Given the description of an element on the screen output the (x, y) to click on. 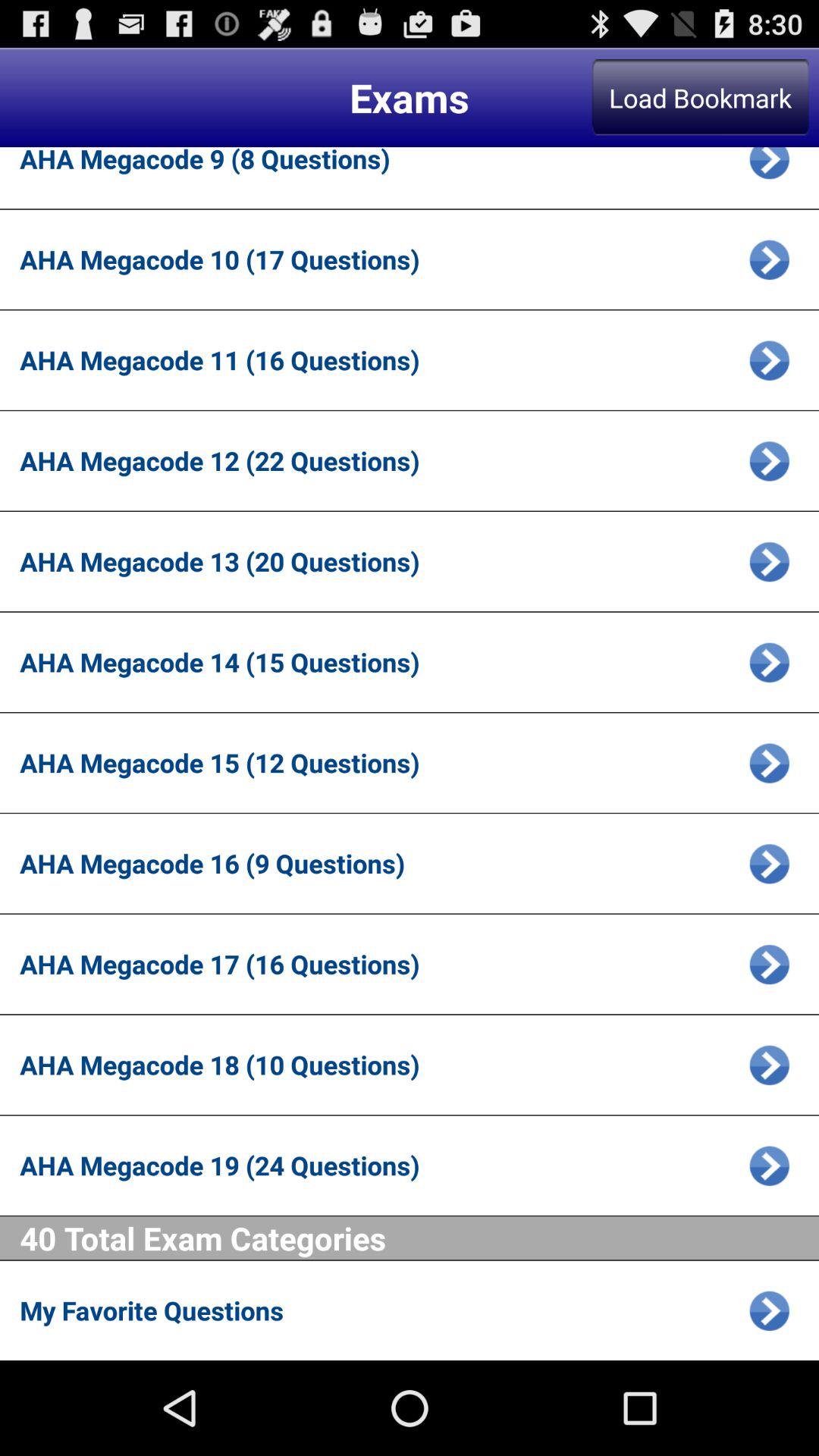
swipe to the load bookmark item (700, 97)
